Given the description of an element on the screen output the (x, y) to click on. 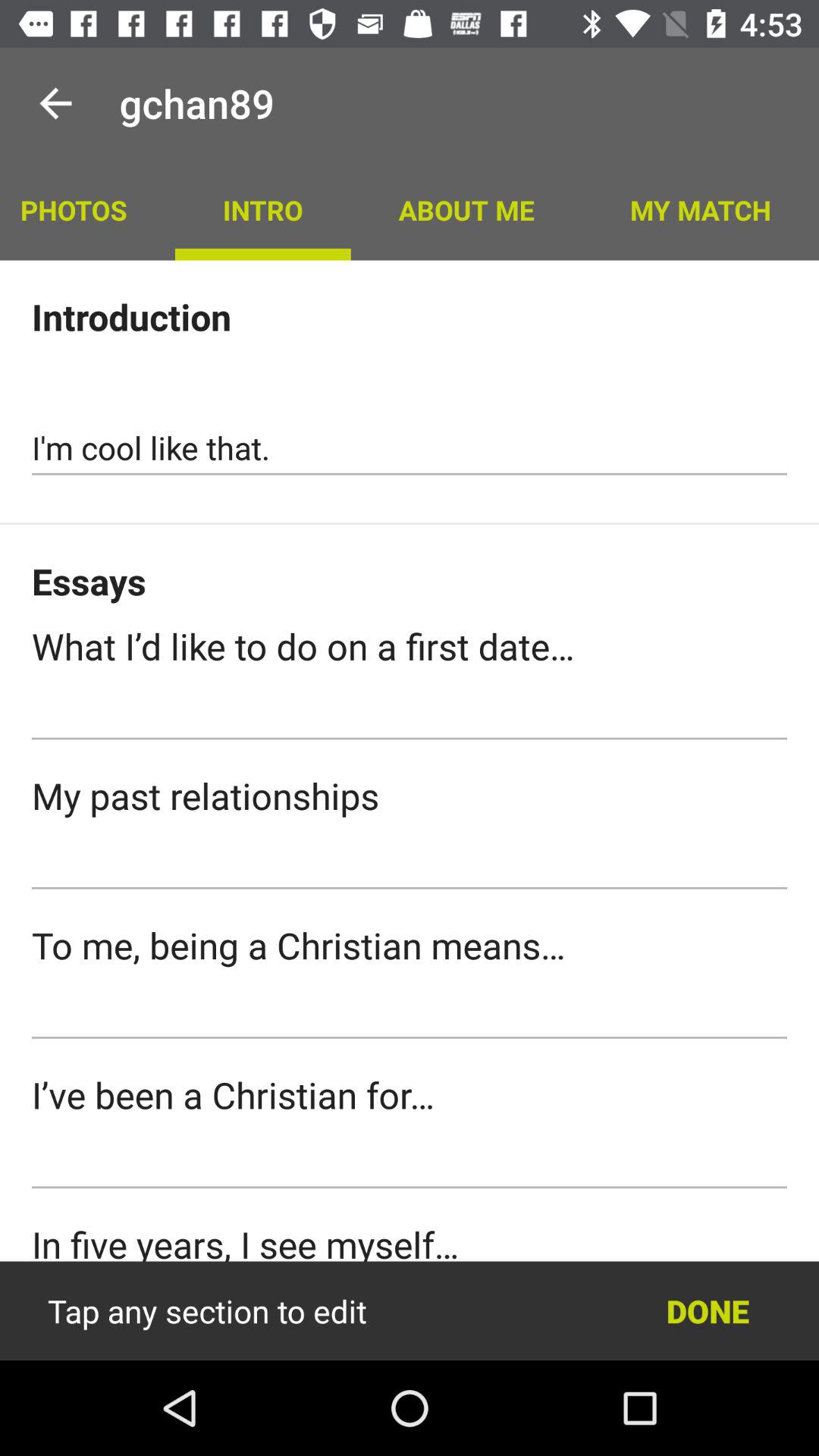
save the information (409, 1310)
